Given the description of an element on the screen output the (x, y) to click on. 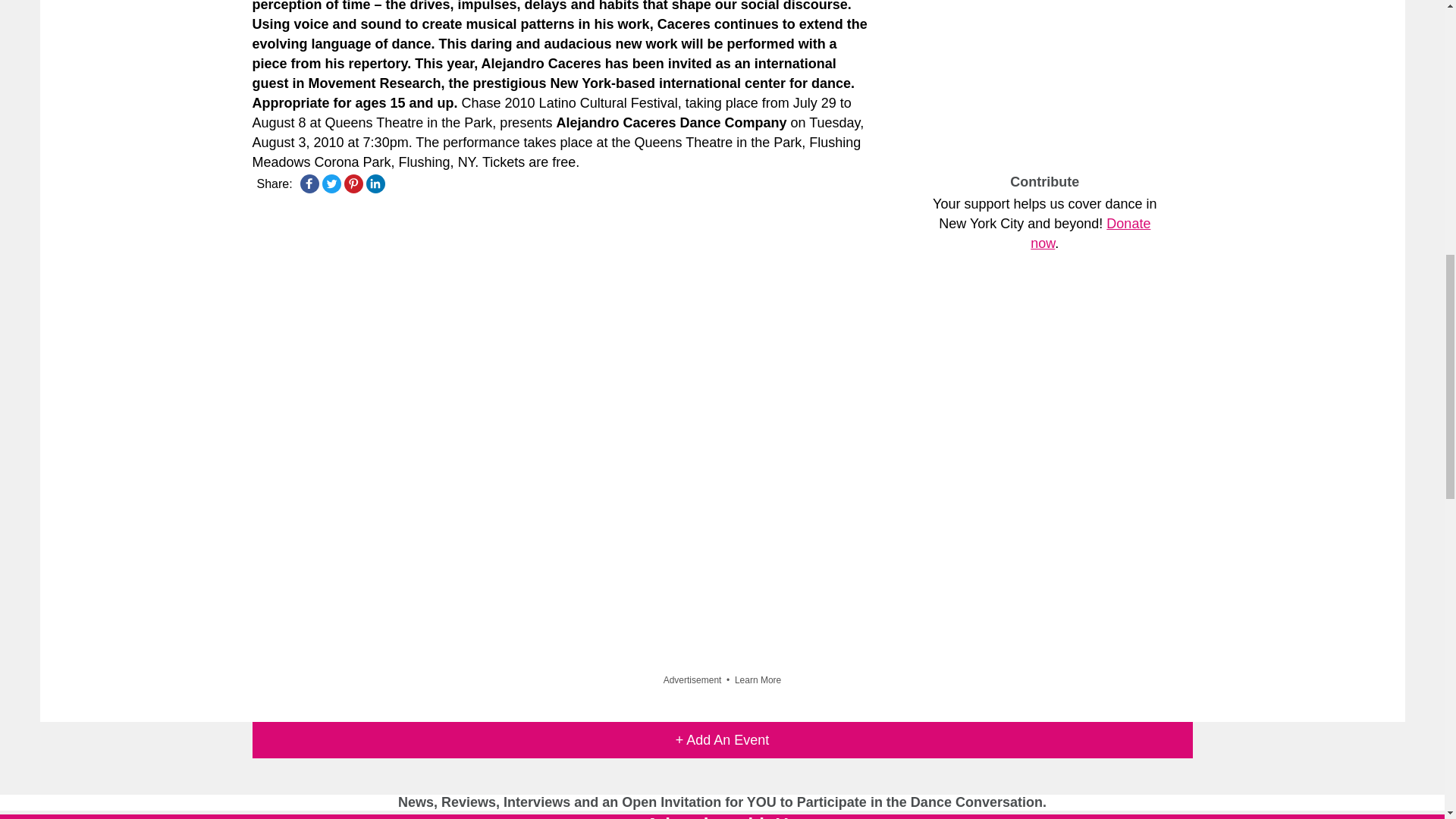
LinkedIn (375, 183)
Twitter (331, 183)
Pinterest (353, 183)
Facebook (309, 183)
